Given the description of an element on the screen output the (x, y) to click on. 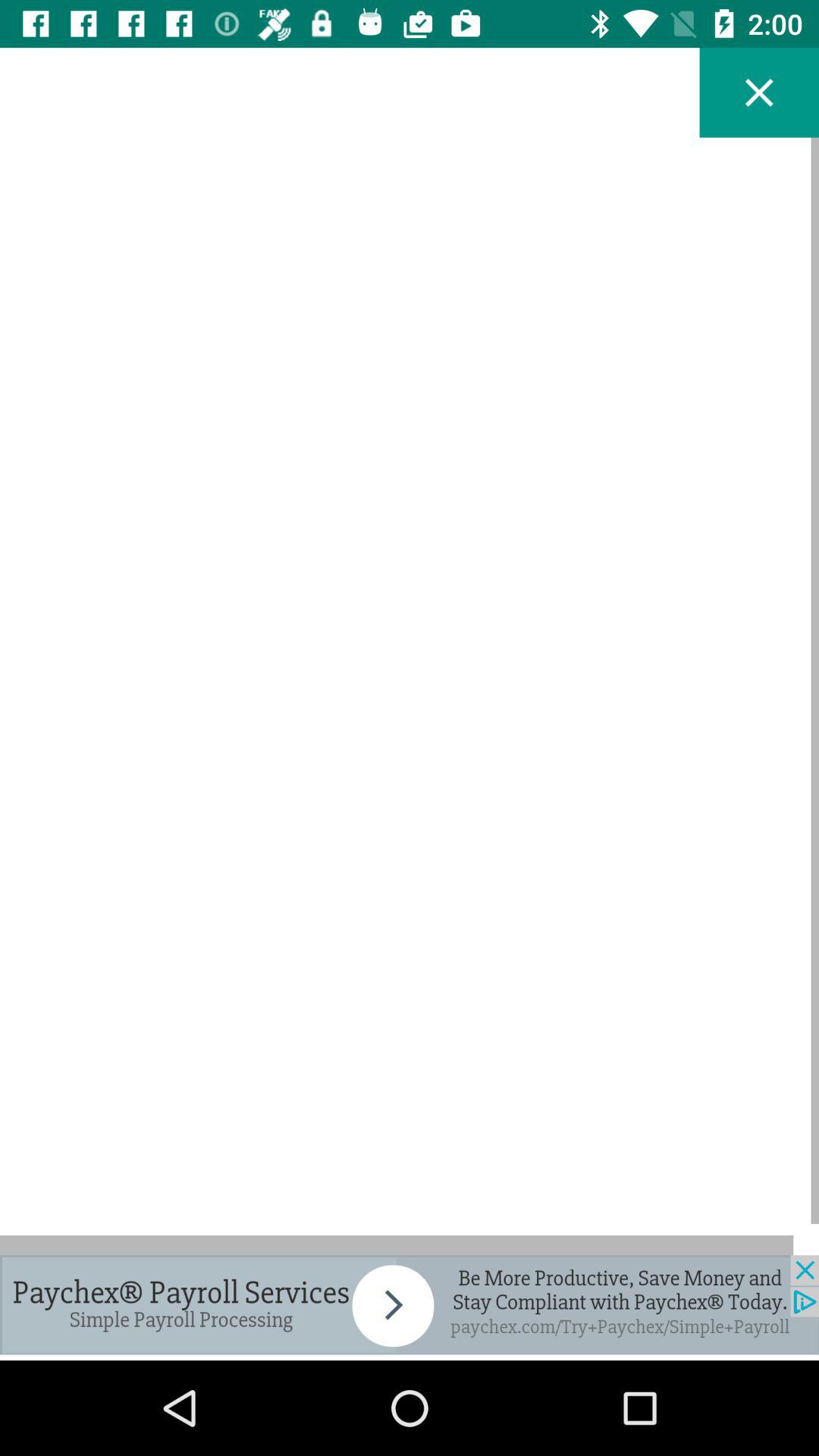
close this (759, 92)
